Given the description of an element on the screen output the (x, y) to click on. 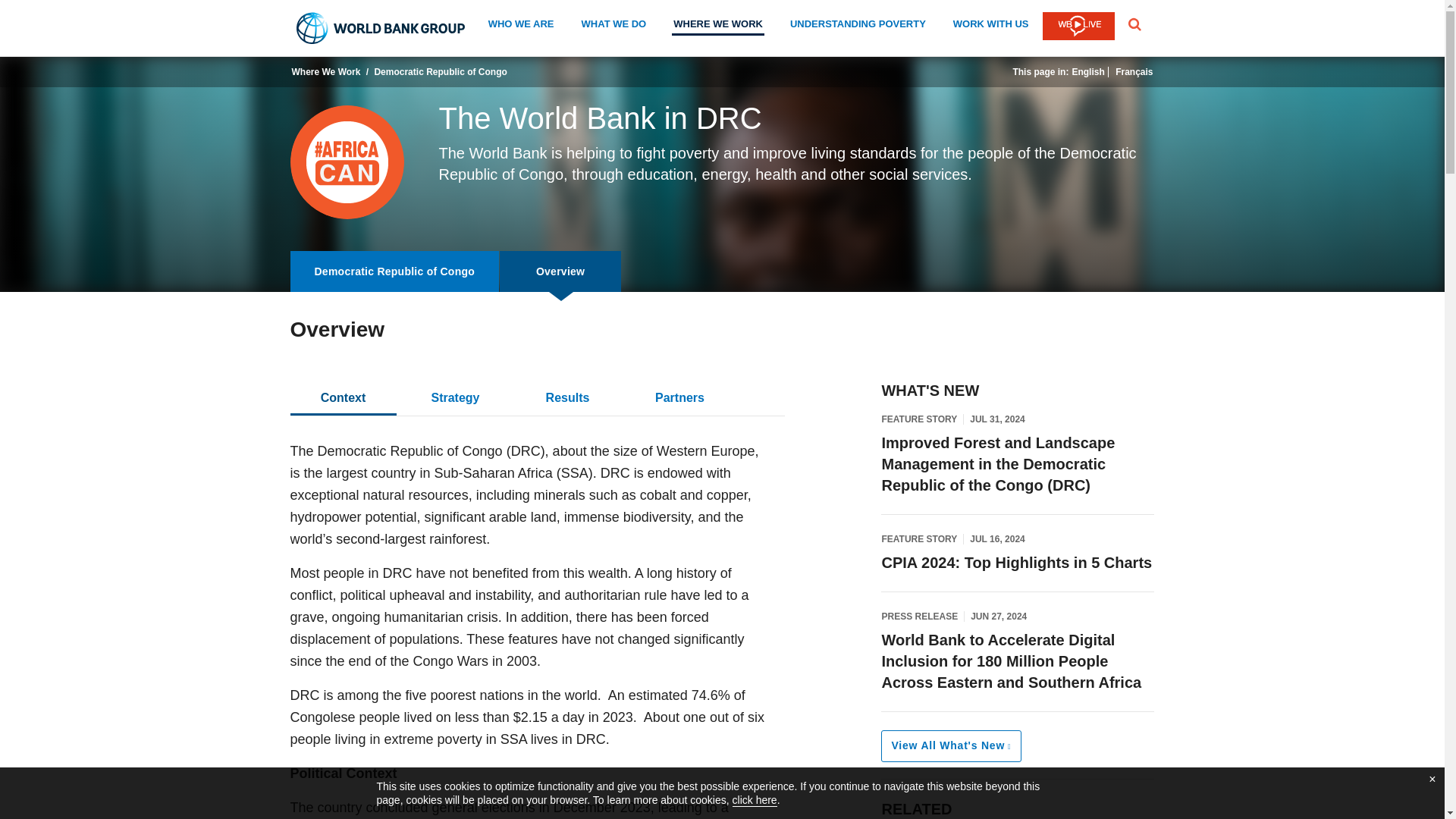
Overview (560, 270)
WHO WE ARE (521, 25)
Democratic Republic of Congo (394, 270)
Image (346, 162)
WHAT WE DO (613, 25)
The World Bank Group logo (380, 28)
Global Search (1134, 24)
